Given the description of an element on the screen output the (x, y) to click on. 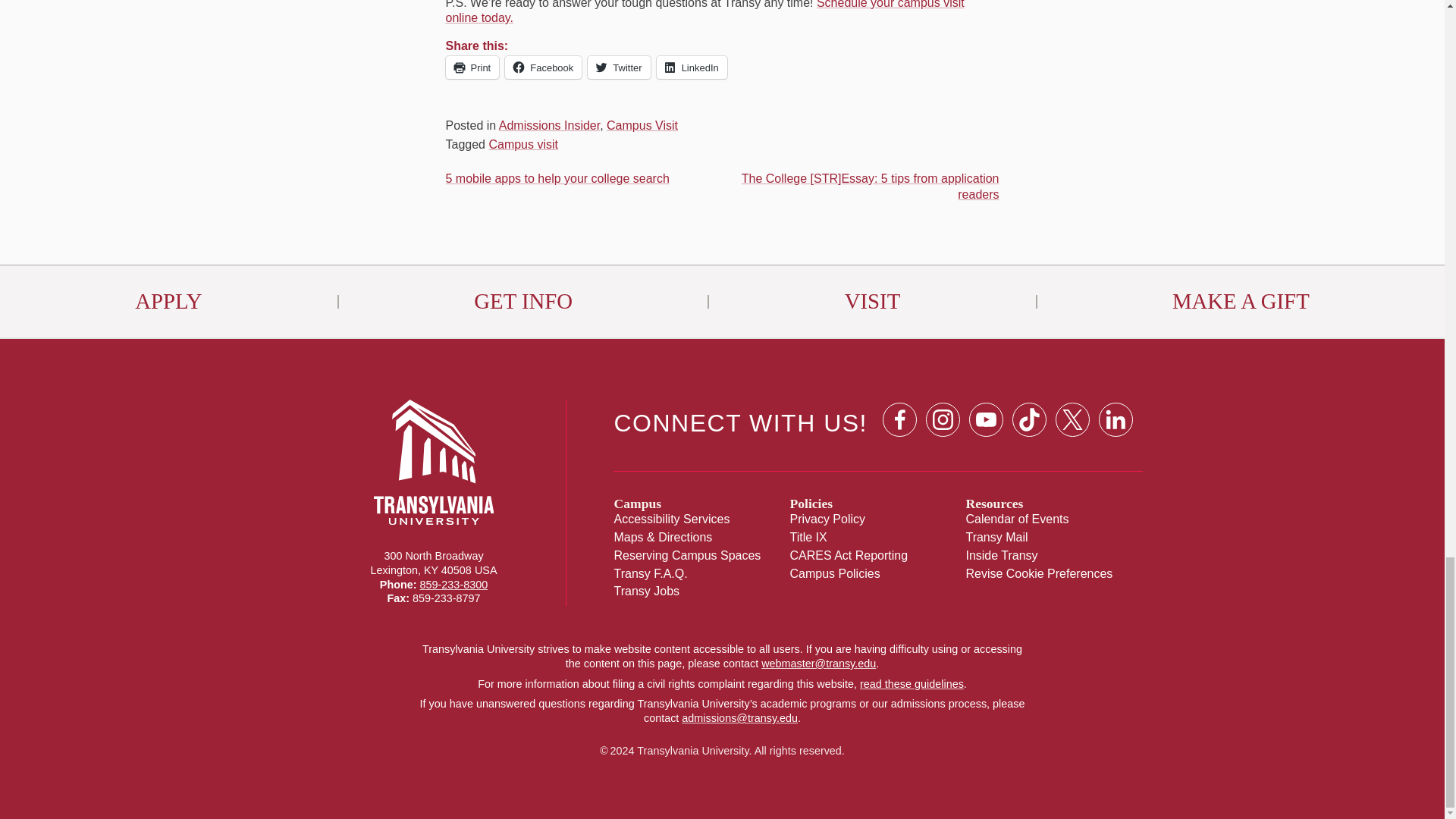
Click to share on Facebook (542, 67)
Click to share on Twitter (618, 67)
Click to share on LinkedIn (691, 67)
Click to print (472, 67)
Schedule your campus visit online today. (704, 12)
Transylvania University (433, 510)
